Given the description of an element on the screen output the (x, y) to click on. 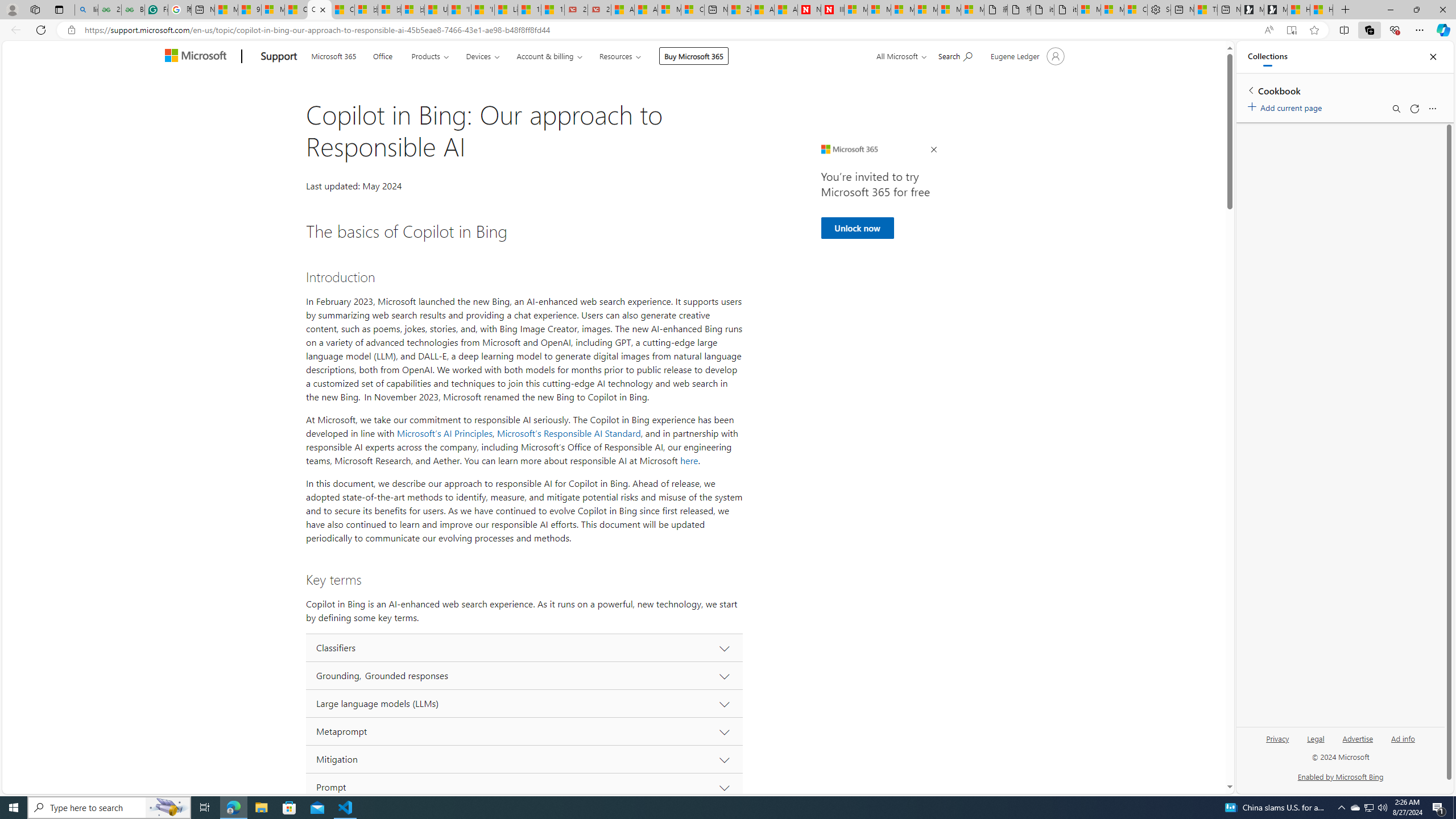
Buy Microsoft 365 (693, 55)
Support (278, 56)
Consumer Health Data Privacy Policy (1135, 9)
Newsweek - News, Analysis, Politics, Business, Technology (809, 9)
21 Movies That Outdid the Books They Were Based On (598, 9)
Best SSL Certificates Provider in India - GeeksforGeeks (132, 9)
